Given the description of an element on the screen output the (x, y) to click on. 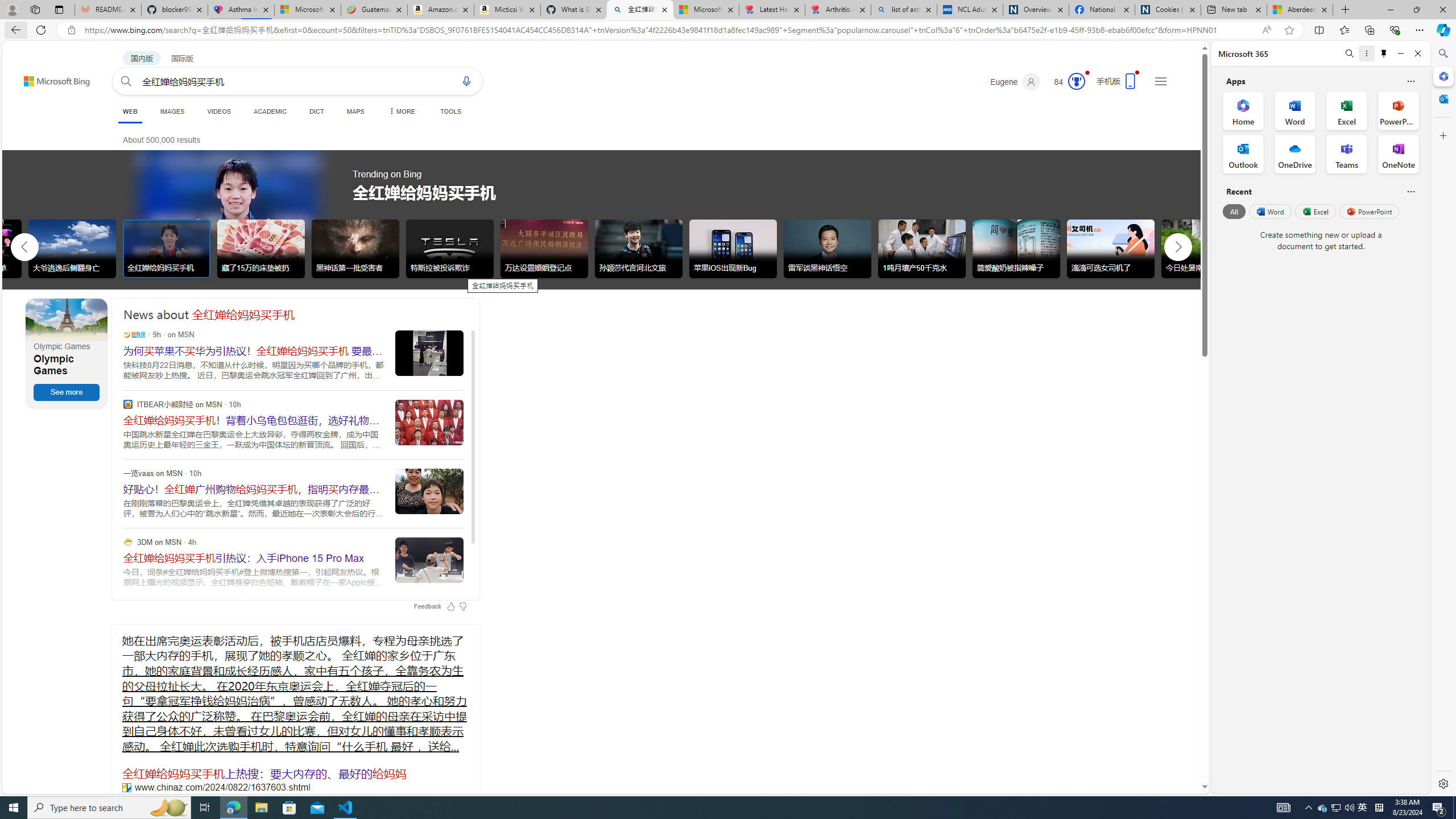
Unpin side pane (1383, 53)
AutomationID: mfa_root (1161, 752)
TOOLS (450, 111)
All (1233, 210)
AutomationID: rh_meter (1076, 80)
Cookies | About | NICE (1167, 9)
More options (1366, 53)
Feedback Like (450, 605)
WEB (129, 111)
